Given the description of an element on the screen output the (x, y) to click on. 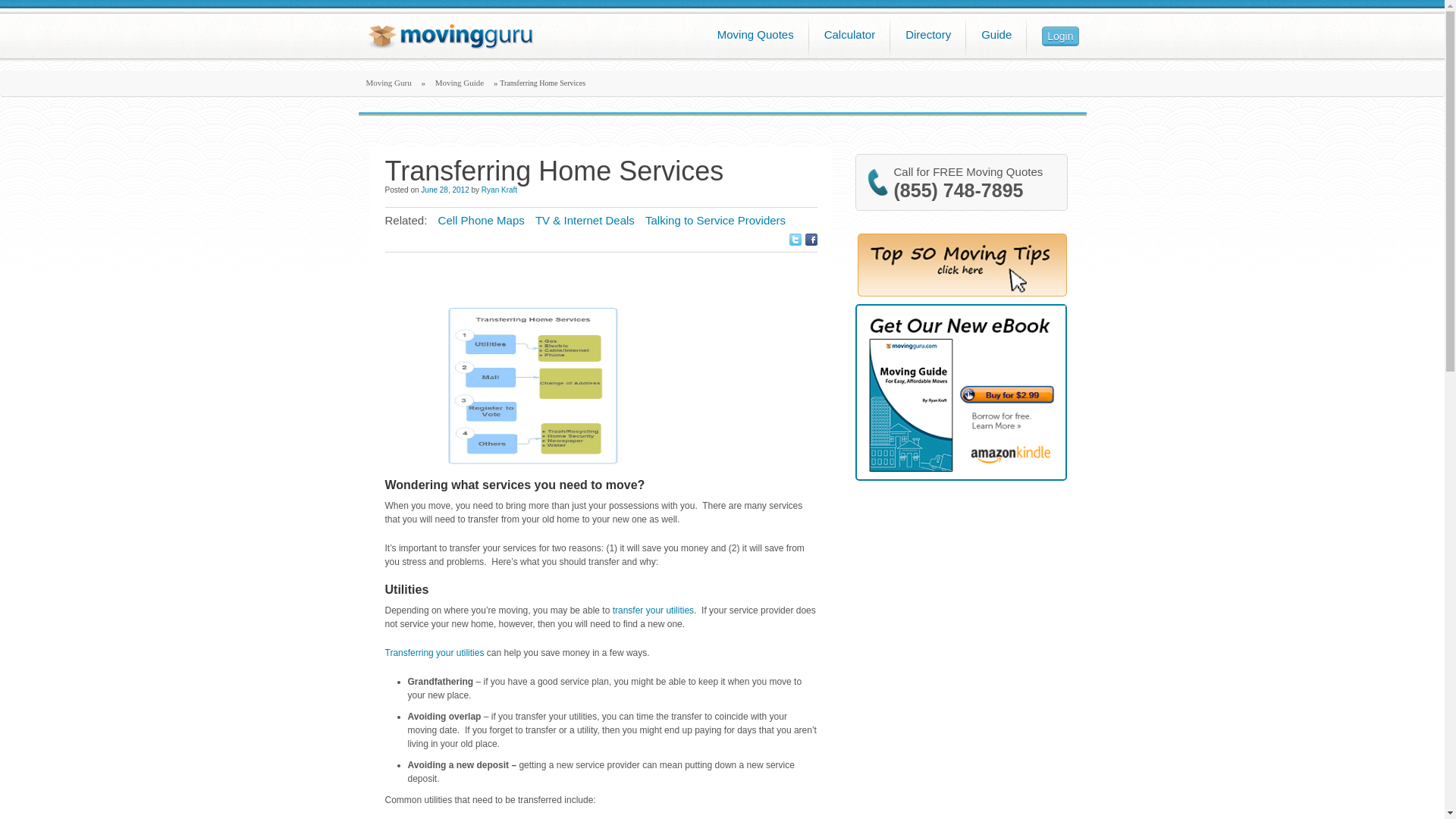
View all posts by Ryan Kraft (498, 189)
Transferring your utilities (434, 652)
Talking to Service Providers (715, 219)
Moving Guru (387, 81)
Moving Guide (459, 81)
Guide (996, 41)
Directory (927, 41)
Moving Guide by Moving Guru (459, 81)
transfer your utilities (653, 610)
Ryan Kraft (498, 189)
